Given the description of an element on the screen output the (x, y) to click on. 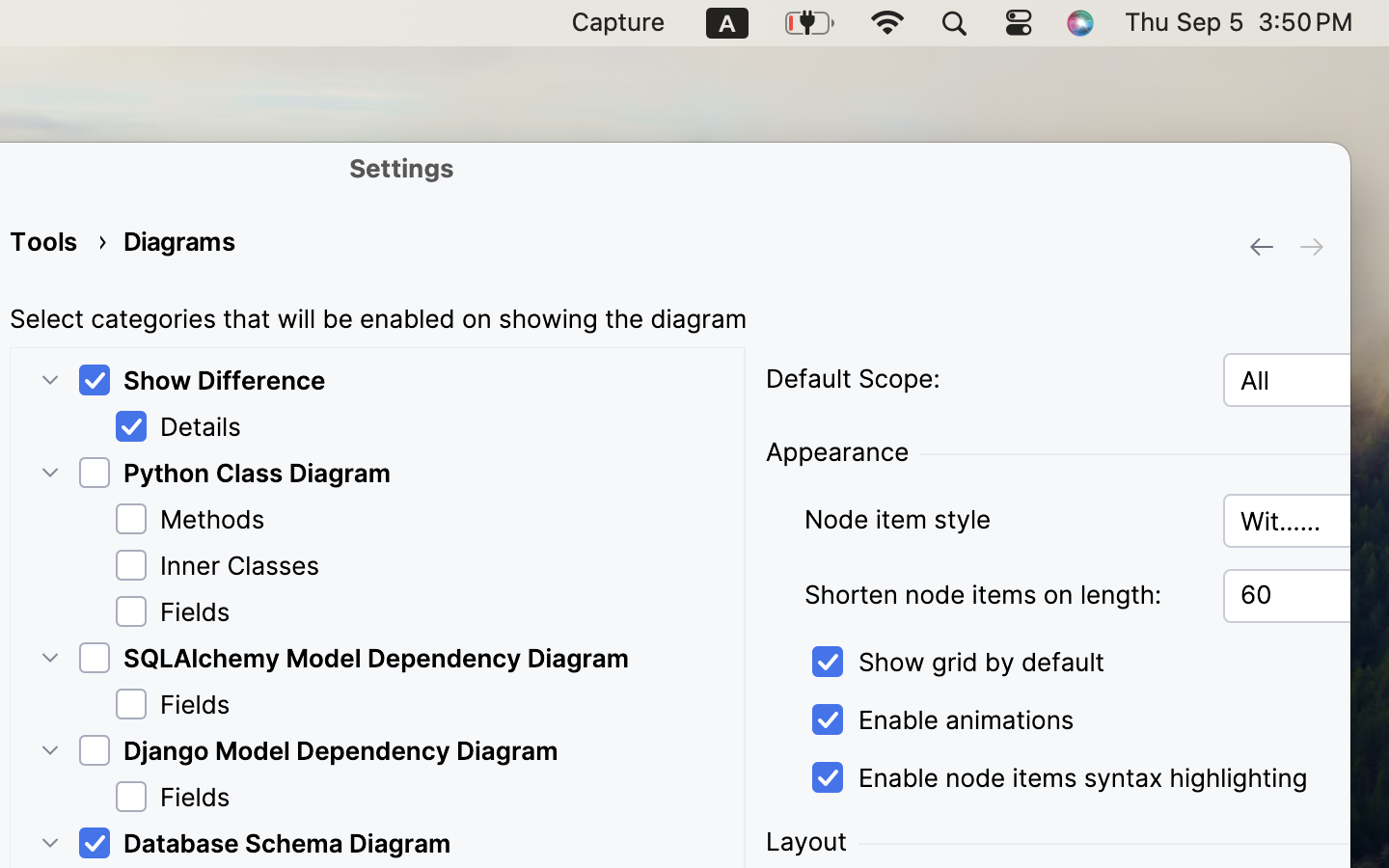
Appearance Element type: AXStaticText (836, 451)
Default Scope: Element type: AXStaticText (852, 378)
1 Element type: AXCheckBox (1055, 778)
Settings Element type: AXStaticText (402, 167)
Layout Element type: AXStaticText (805, 841)
